Given the description of an element on the screen output the (x, y) to click on. 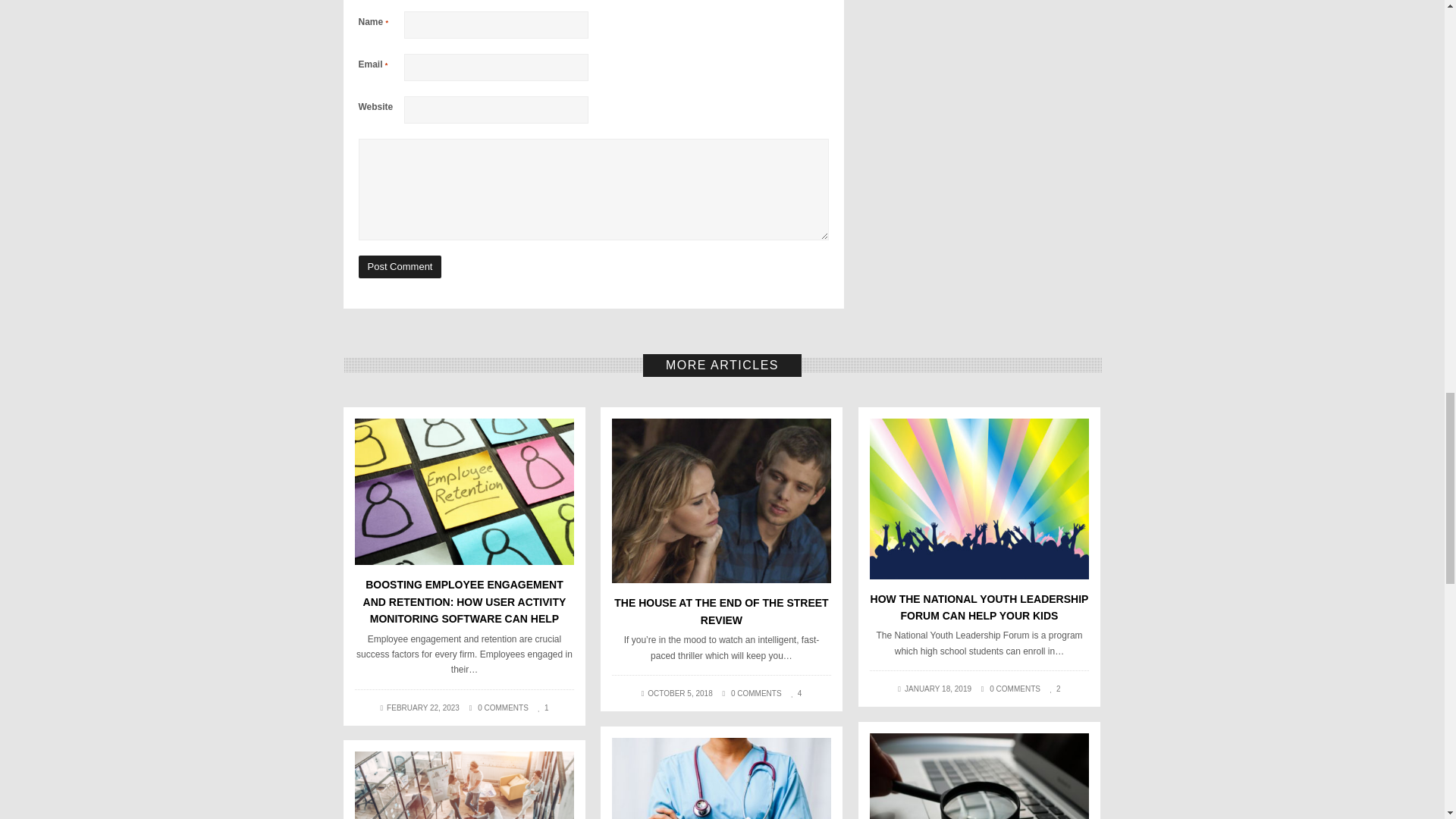
Post Comment (399, 266)
